Given the description of an element on the screen output the (x, y) to click on. 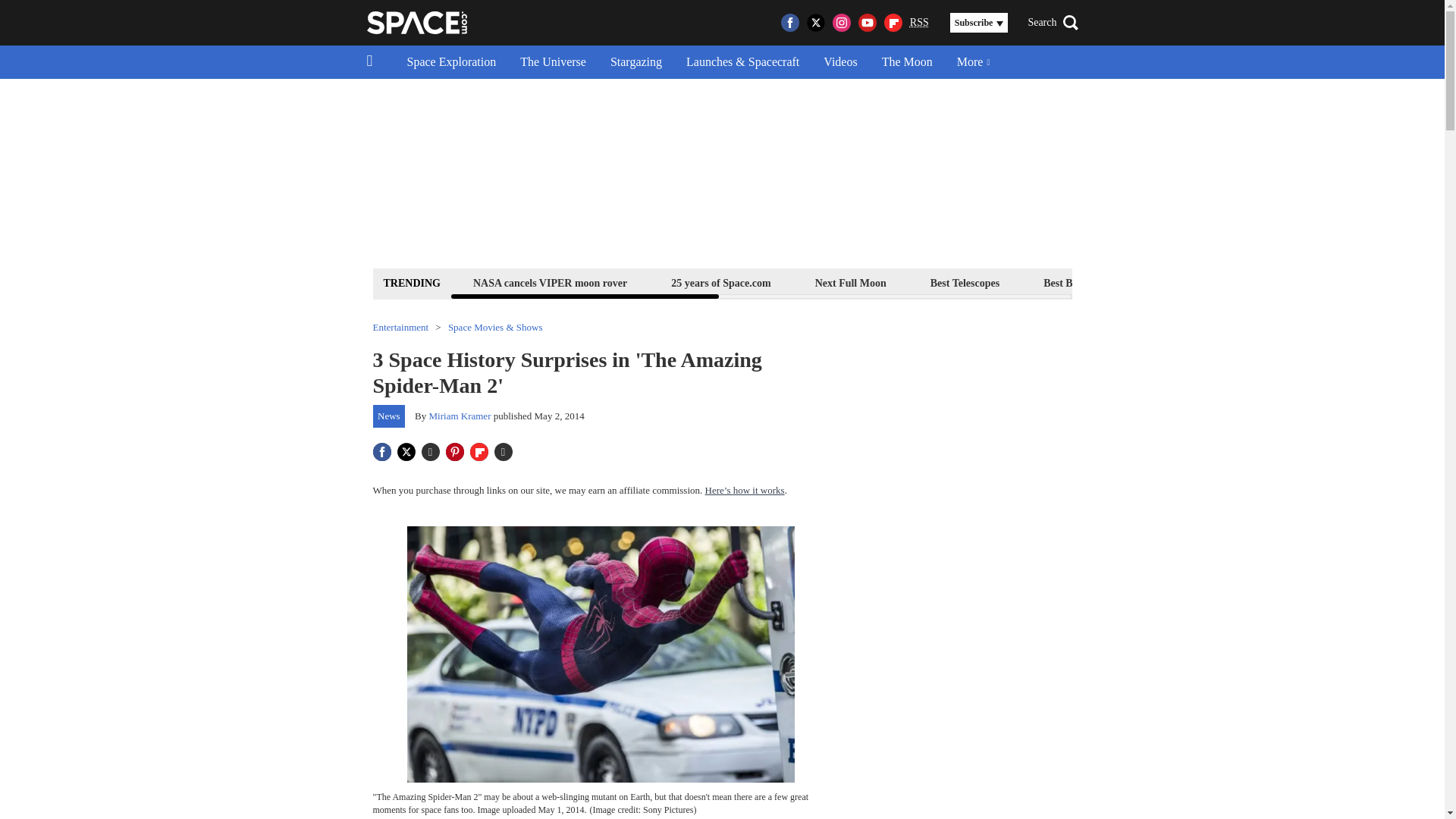
Next Full Moon (850, 282)
Space Exploration (451, 61)
NASA cancels VIPER moon rover (549, 282)
Best Binoculars (1078, 282)
The Moon (906, 61)
The Universe (553, 61)
Really Simple Syndication (919, 21)
Space Calendar (1329, 282)
25 years of Space.com (720, 282)
RSS (919, 22)
Videos (839, 61)
Best Star Projectors (1204, 282)
Stargazing (636, 61)
Best Telescopes (964, 282)
